Given the description of an element on the screen output the (x, y) to click on. 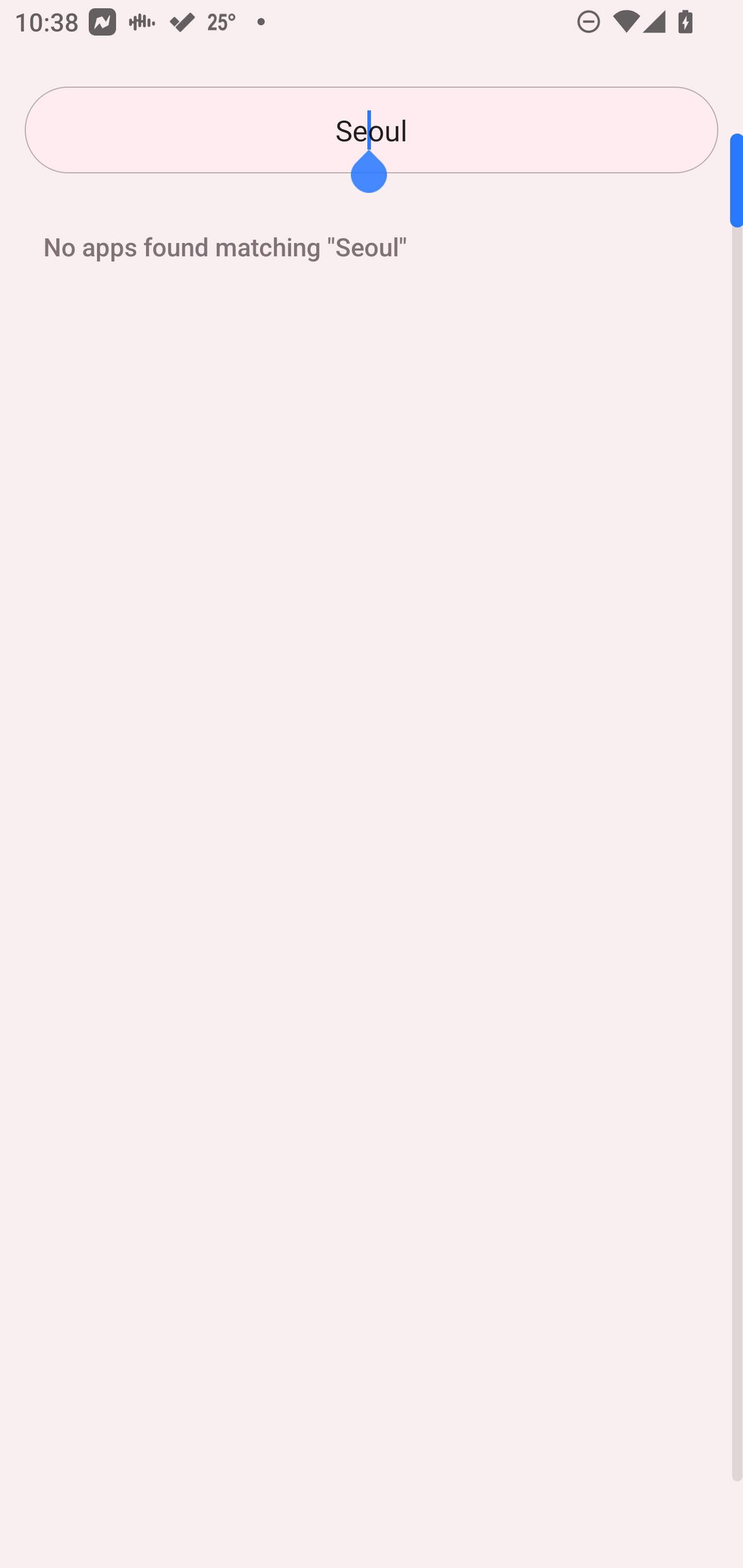
Seoul (371, 130)
